Given the description of an element on the screen output the (x, y) to click on. 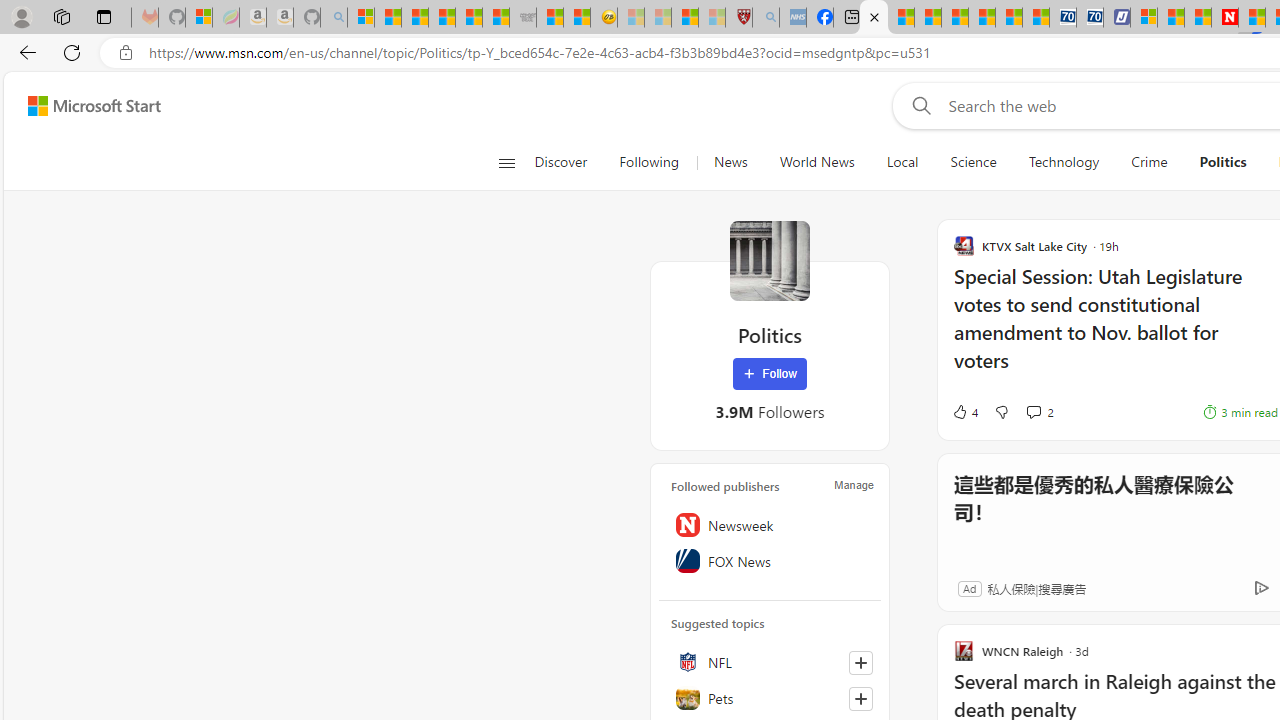
Cheap Hotels - Save70.com (1089, 17)
Pets (770, 697)
View comments 2 Comment (1039, 412)
